Given the description of an element on the screen output the (x, y) to click on. 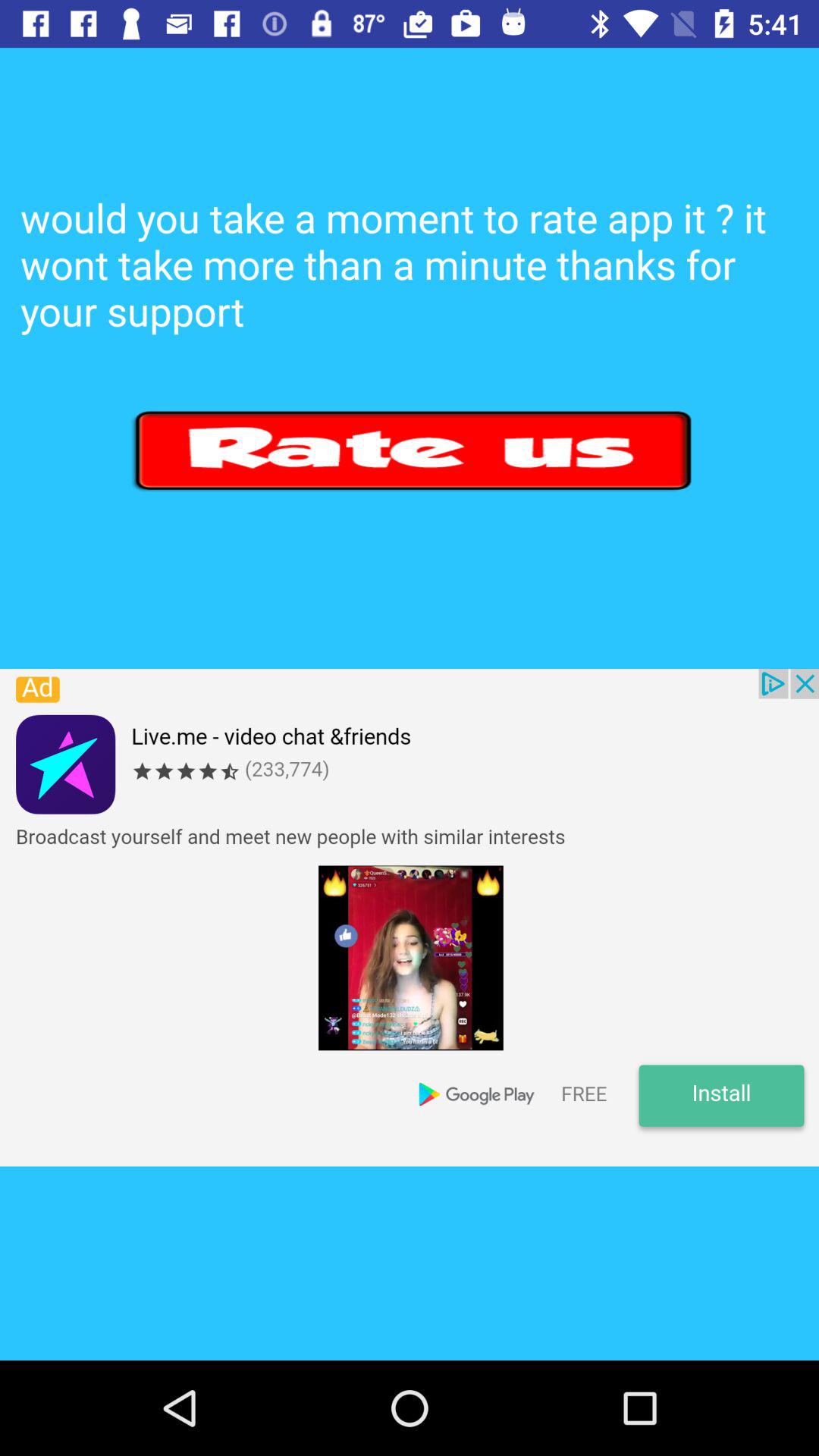
close the app (409, 917)
